Given the description of an element on the screen output the (x, y) to click on. 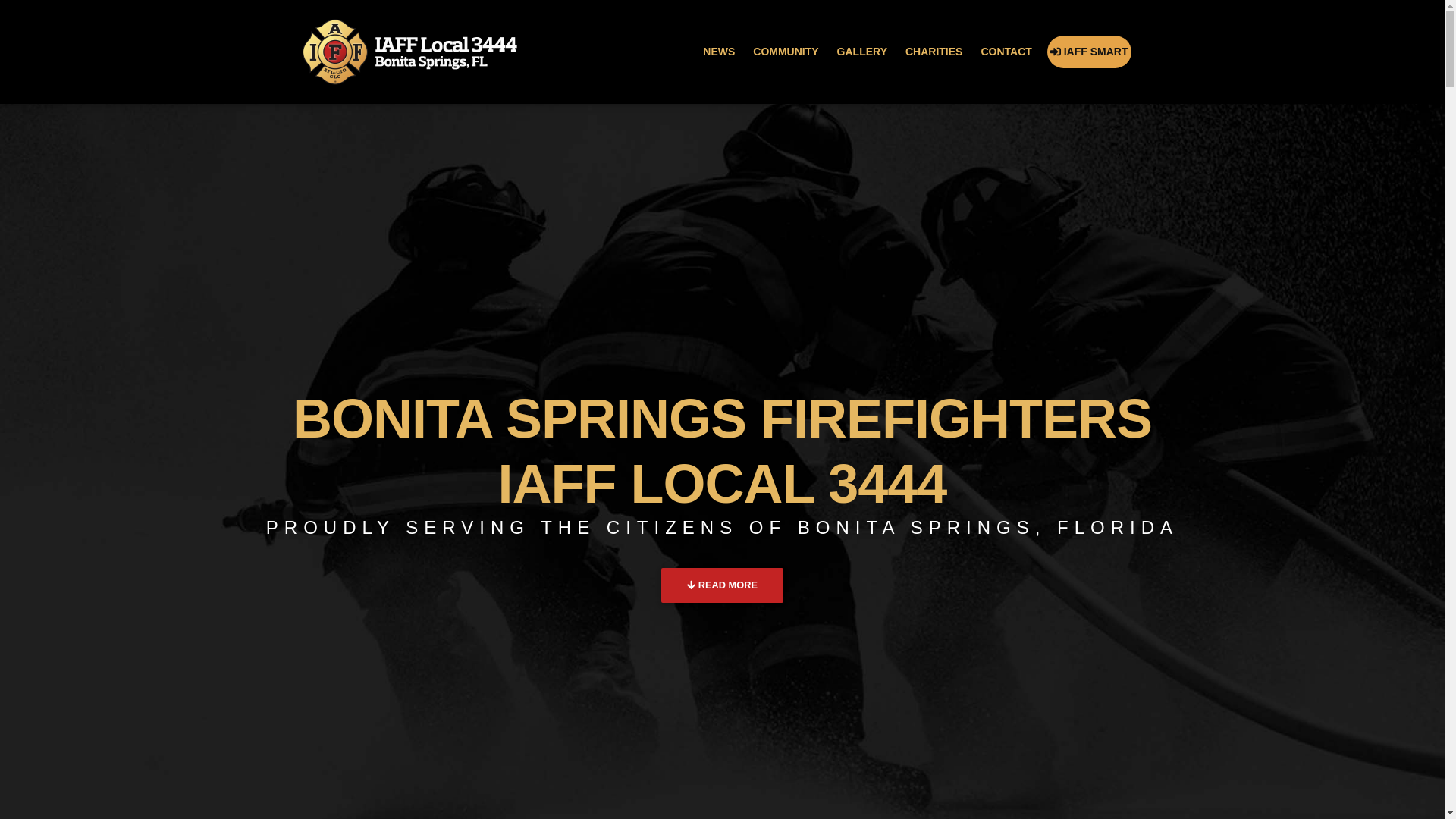
COMMUNITY (785, 52)
Local 3444 logo (408, 51)
GALLERY (861, 52)
CHARITIES (933, 52)
IAFF SMART (1088, 52)
NEWS (719, 52)
READ MORE (722, 585)
CONTACT (1004, 52)
